Given the description of an element on the screen output the (x, y) to click on. 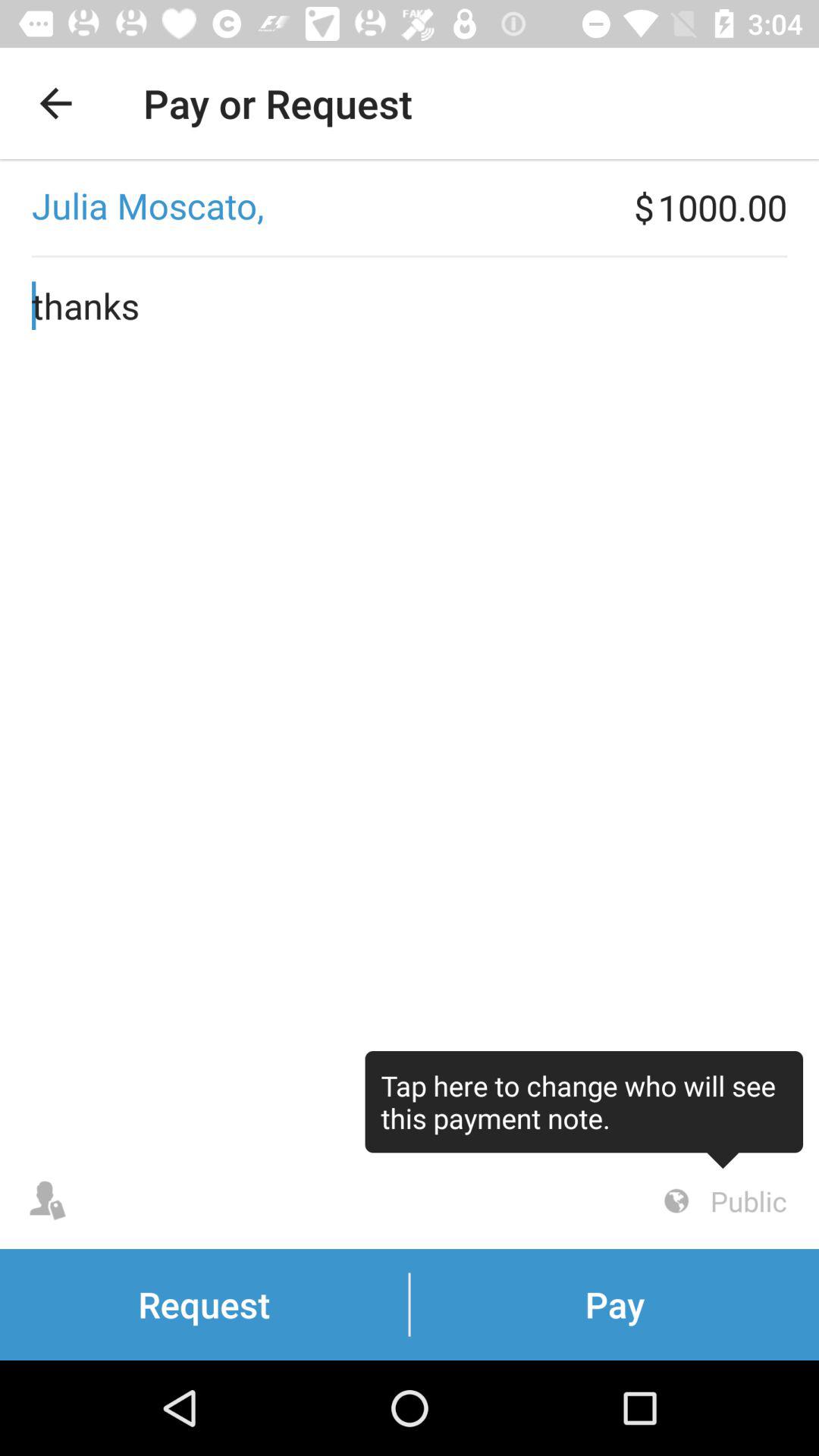
tap the item to the right of the $ item (738, 207)
